Given the description of an element on the screen output the (x, y) to click on. 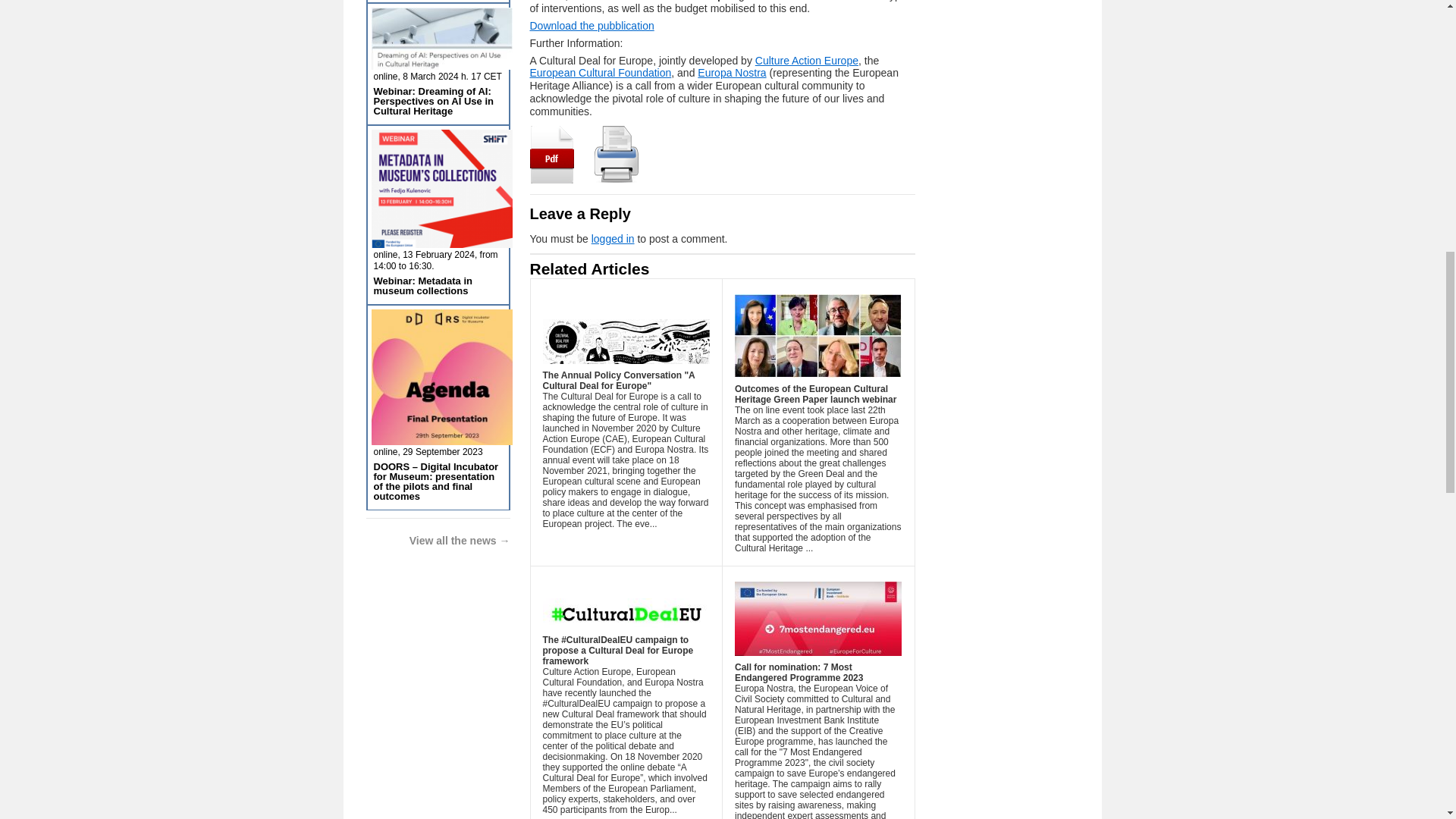
European Cultural Foundation (600, 72)
Webinar: Metadata in museum collections (421, 285)
Webinar: Metadata in museum collections (421, 285)
Europa Nostra (731, 72)
Culture Action Europe (807, 60)
Download the pubblication (591, 25)
logged in (612, 238)
Webinar: Metadata in museum collections (441, 242)
